Given the description of an element on the screen output the (x, y) to click on. 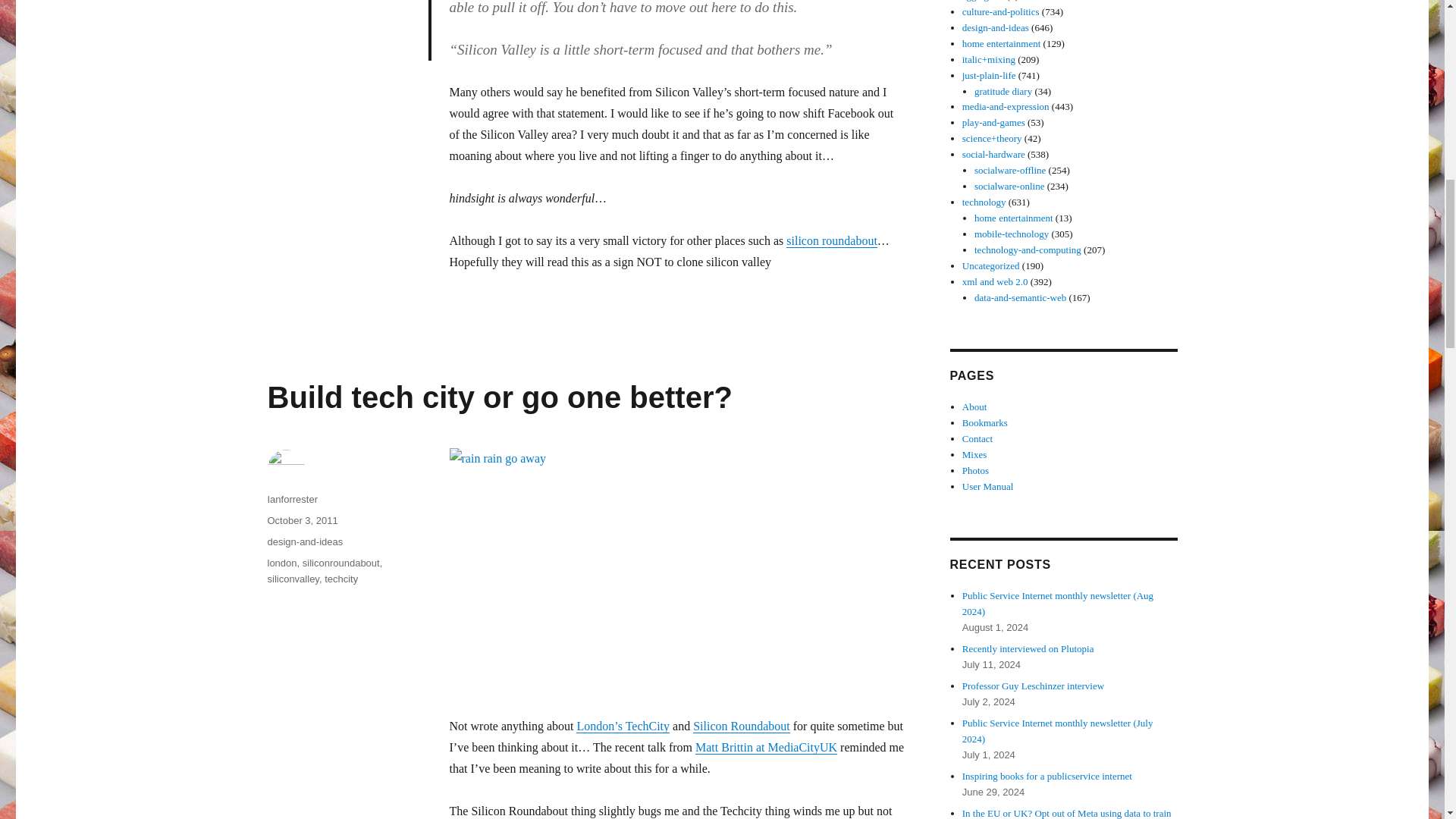
Build tech city or go one better? (499, 397)
October 3, 2011 (301, 520)
gratitude diary (1003, 90)
home entertainment (1001, 43)
london (281, 562)
siliconvalley (292, 578)
play-and-games (993, 122)
techcity (341, 578)
design-and-ideas (304, 541)
siliconroundabout (341, 562)
